Given the description of an element on the screen output the (x, y) to click on. 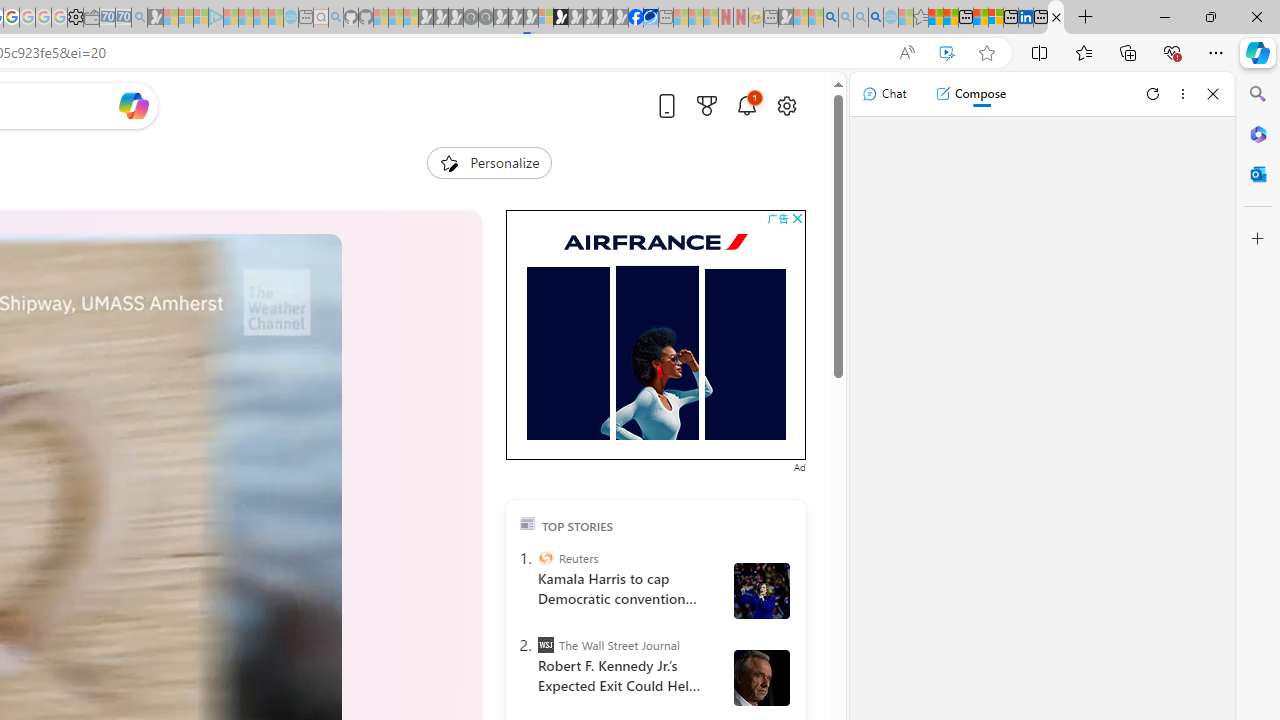
Google Chrome Internet Browser Download - Search Images (876, 17)
AQI & Health | AirNow.gov (650, 17)
Close Customize pane (1258, 239)
